Given the description of an element on the screen output the (x, y) to click on. 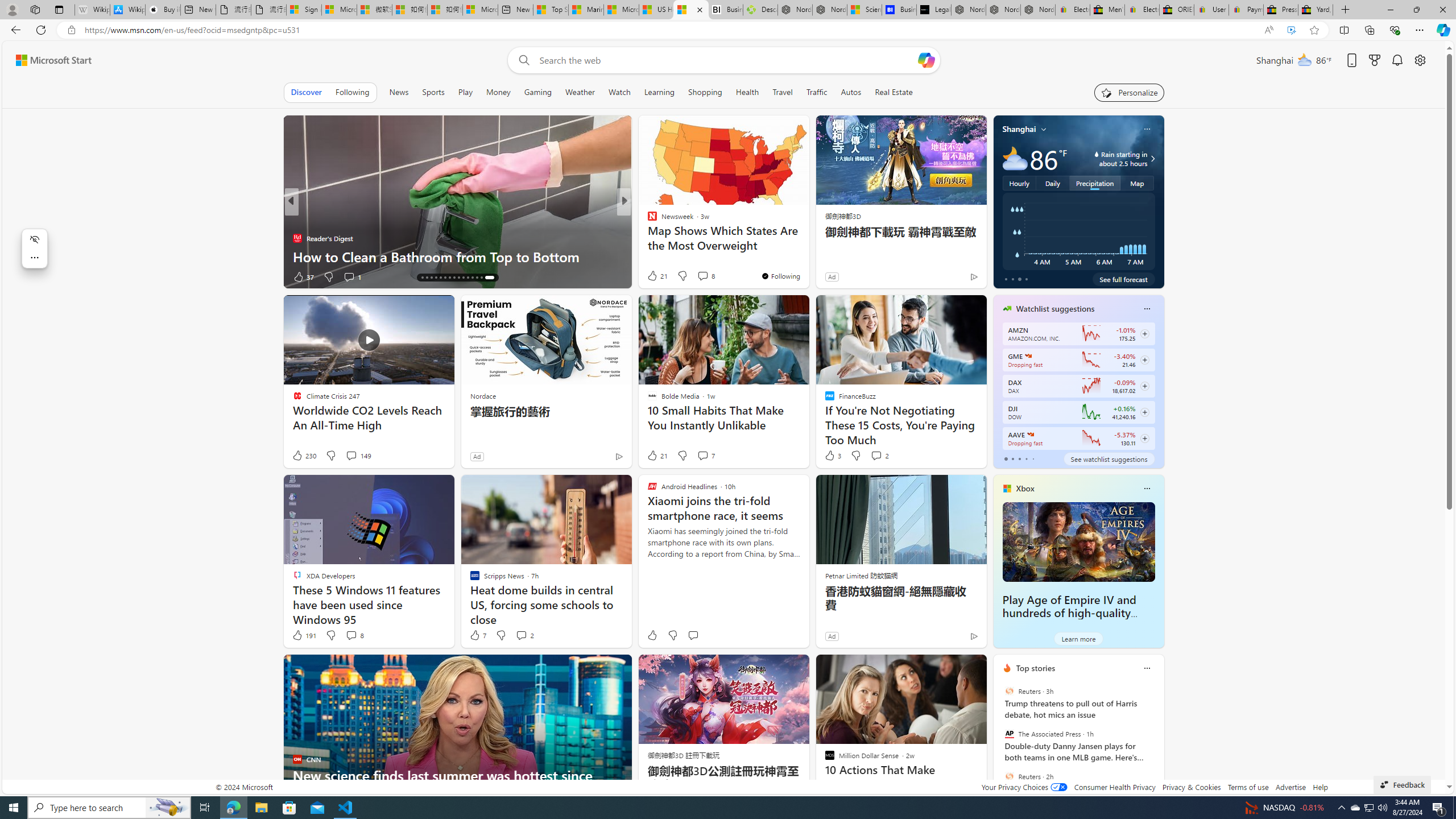
Precipitation (1094, 183)
Awful Funny US (647, 238)
Privacy & Cookies (1191, 786)
Hourly (1018, 183)
Top stories (1035, 668)
View comments 3 Comment (698, 276)
3 Like (831, 455)
Terms of use (1247, 786)
Mini menu on text selection (33, 248)
